Given the description of an element on the screen output the (x, y) to click on. 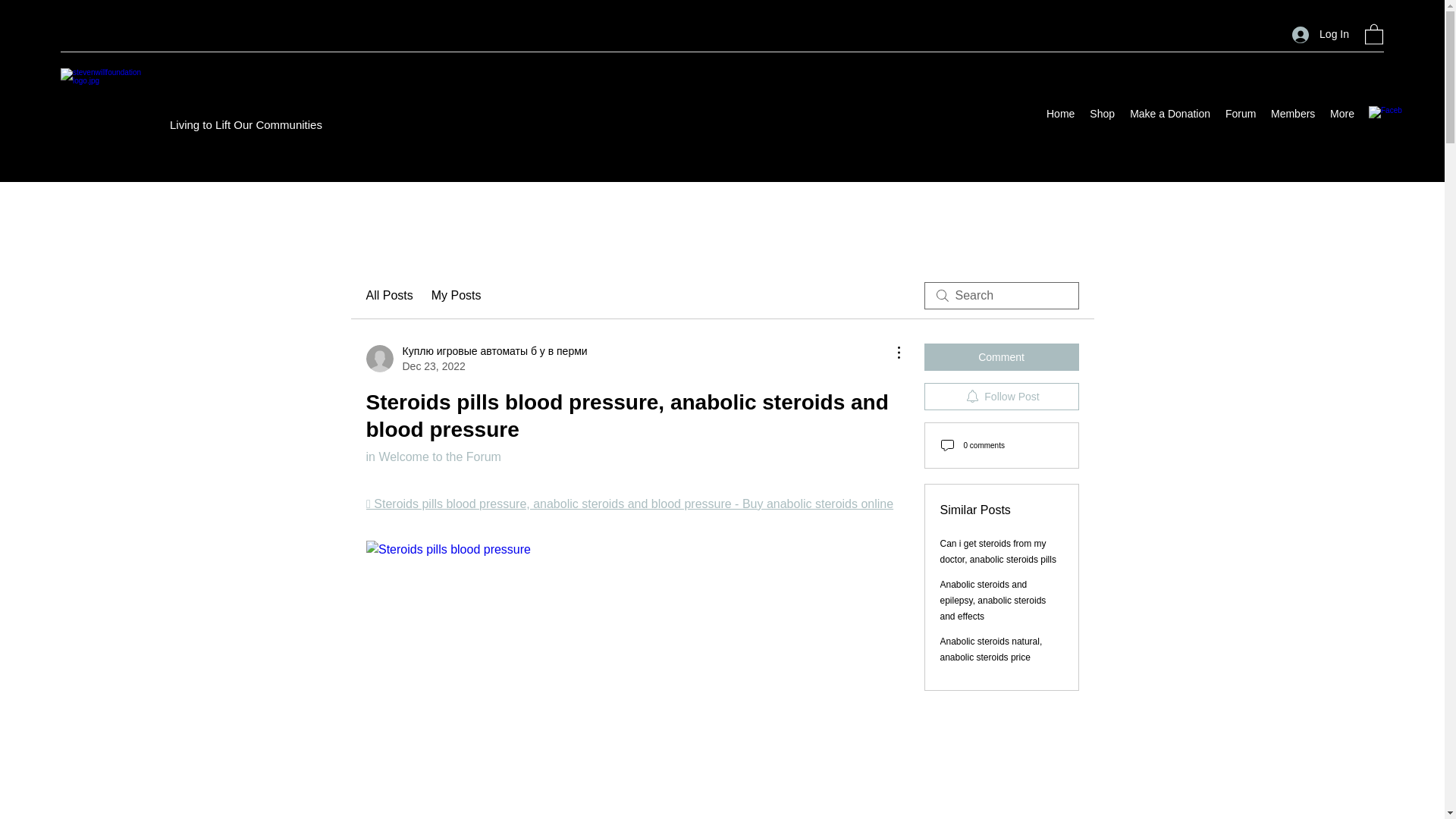
Log In (1320, 34)
Anabolic steroids natural, anabolic steroids price (991, 649)
Shop (1101, 113)
Make a Donation (1169, 113)
in Welcome to the Forum (432, 456)
Follow Post (1000, 396)
Can i get steroids from my doctor, anabolic steroids pills (998, 551)
My Posts (455, 295)
Home (1060, 113)
